Given the description of an element on the screen output the (x, y) to click on. 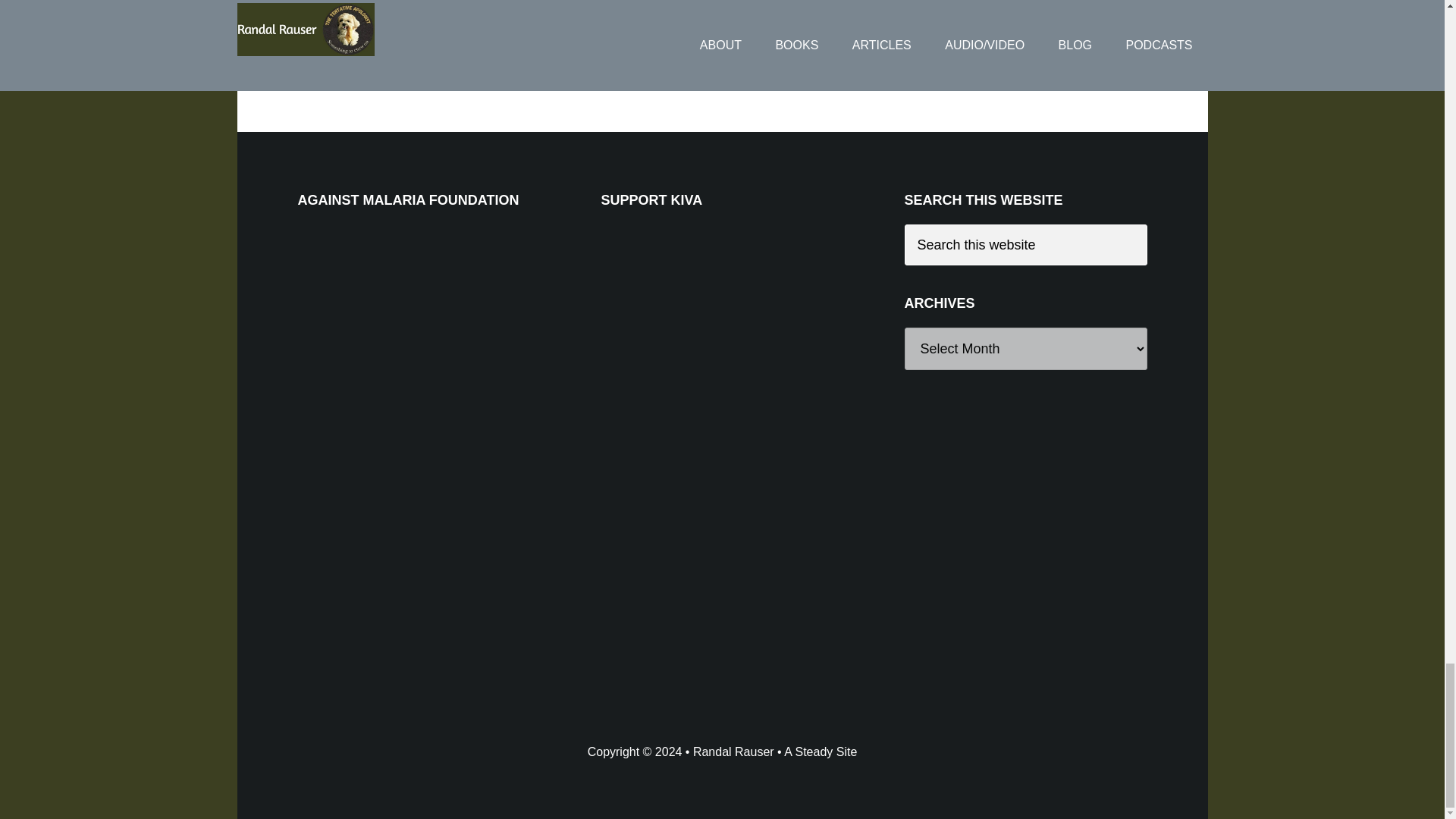
Email (373, 9)
Against Malaria Foundation (410, 338)
Twitter (342, 9)
theology (629, 60)
Twitter (342, 9)
Email (373, 9)
soteriology (571, 60)
Facebook (312, 9)
